Given the description of an element on the screen output the (x, y) to click on. 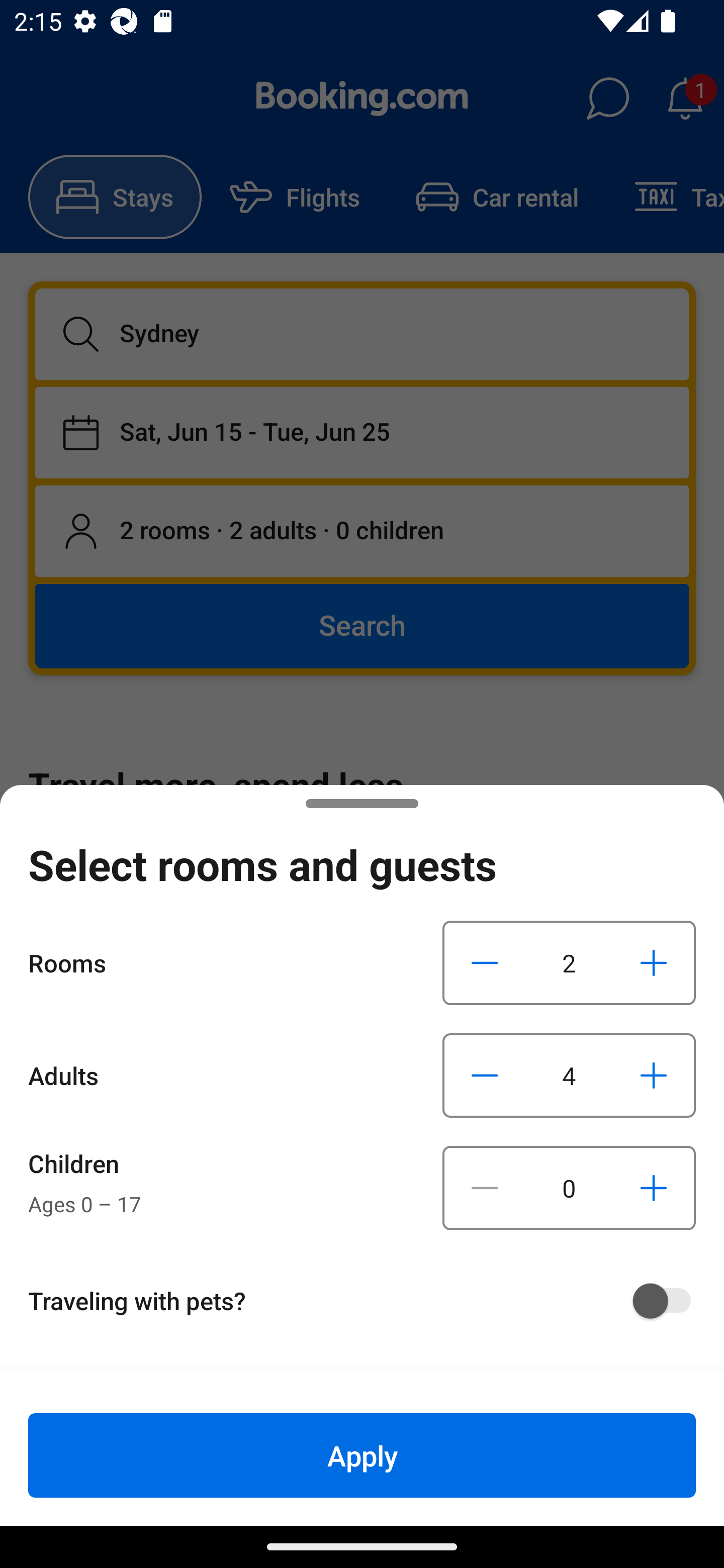
Decrease (484, 962)
Increase (653, 962)
Decrease (484, 1075)
Increase (653, 1075)
Decrease (484, 1188)
Increase (653, 1188)
Traveling with pets? (369, 1300)
Apply (361, 1454)
